Given the description of an element on the screen output the (x, y) to click on. 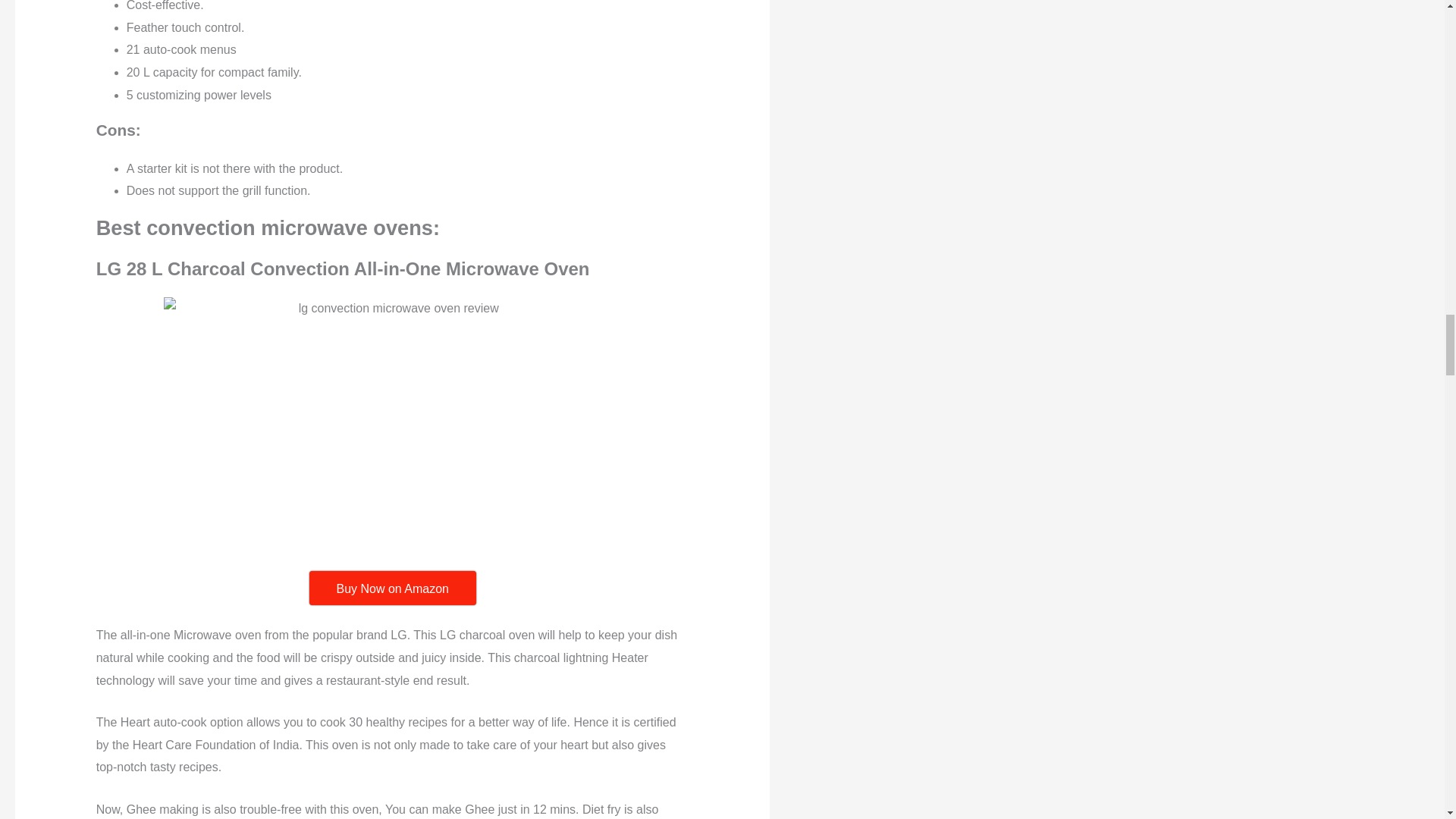
Buy Now on Amazon (392, 587)
